Given the description of an element on the screen output the (x, y) to click on. 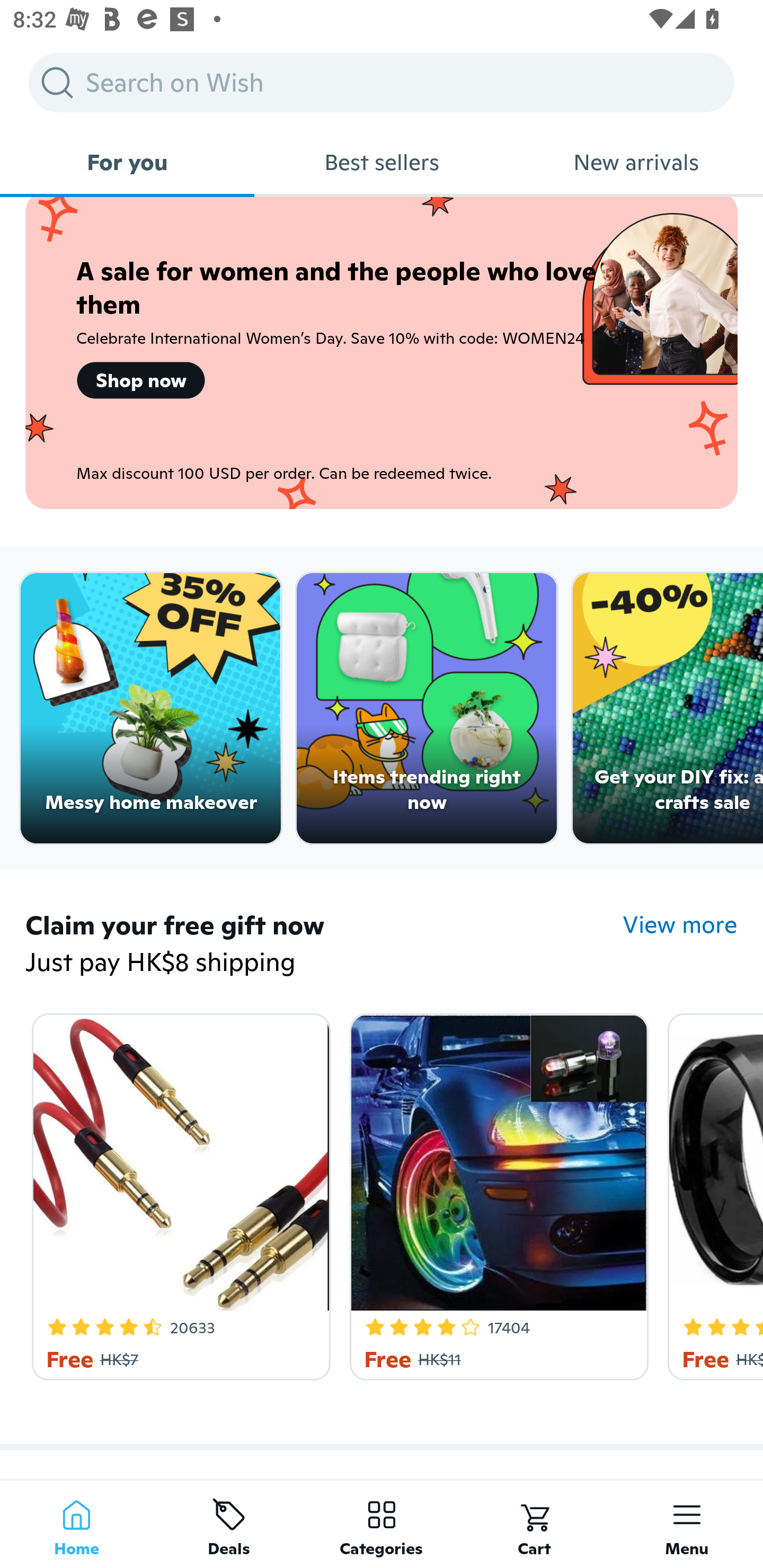
Search on Wish (381, 82)
For you (127, 161)
Best sellers (381, 161)
New arrivals (635, 161)
Messy home makeover (150, 708)
Items trending right now (426, 708)
Get your DIY fix: arts & crafts sale (668, 708)
Claim your free gift now
Just pay HK$8 shipping (323, 944)
View more (679, 923)
4.3 Star Rating 20633 Free HK$7 (177, 1192)
3.8 Star Rating 17404 Free HK$11 (495, 1192)
Home (76, 1523)
Deals (228, 1523)
Categories (381, 1523)
Cart (533, 1523)
Menu (686, 1523)
